Given the description of an element on the screen output the (x, y) to click on. 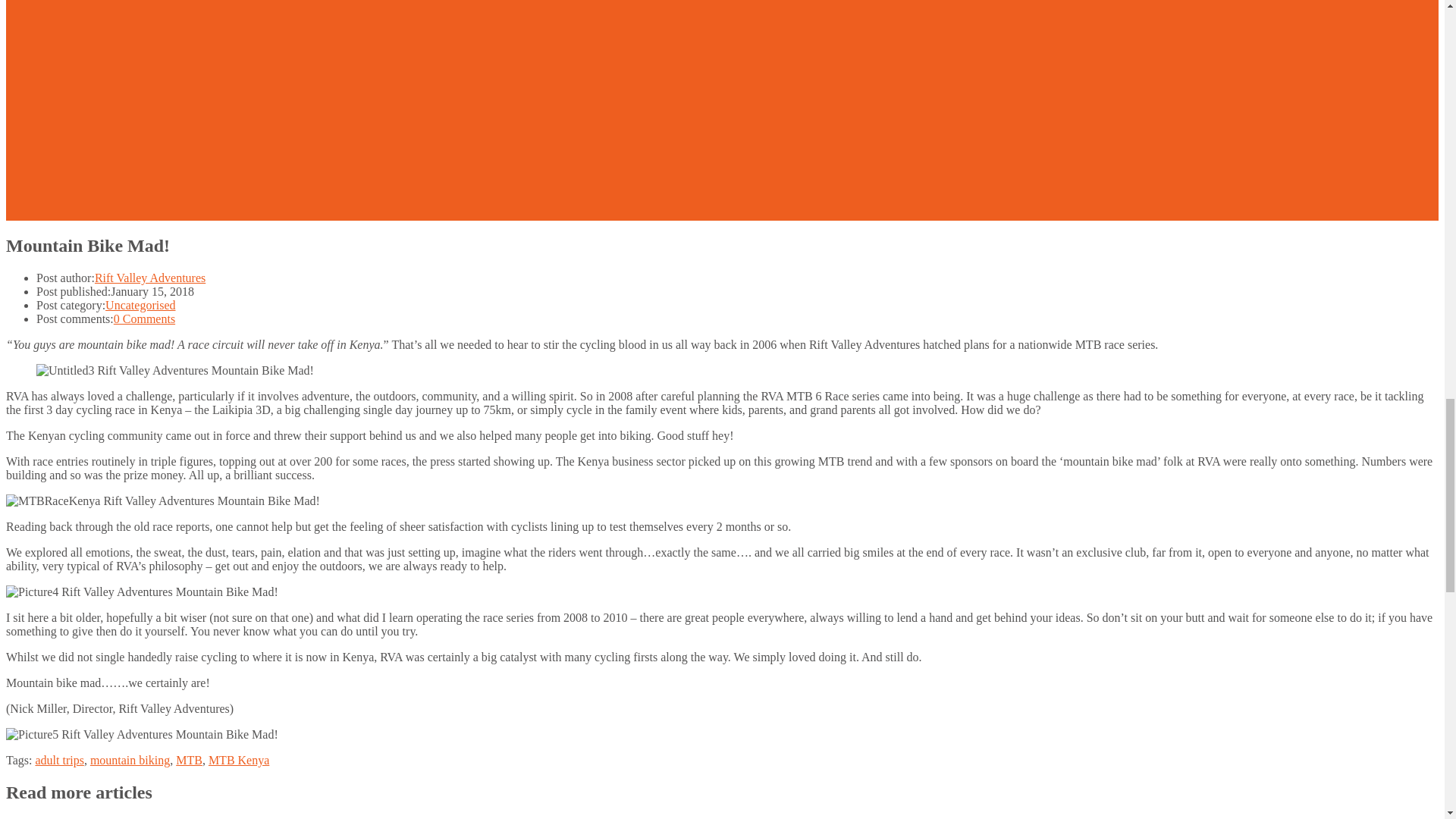
Posts by Rift Valley Adventures (149, 277)
Mountain Bike Mad! Rift Valley Adventures (175, 370)
Mountain Bike Mad! Rift Valley Adventures (141, 591)
Mountain Bike Mad! Rift Valley Adventures (141, 735)
Mountain Bike Mad! Rift Valley Adventures (162, 500)
